Given the description of an element on the screen output the (x, y) to click on. 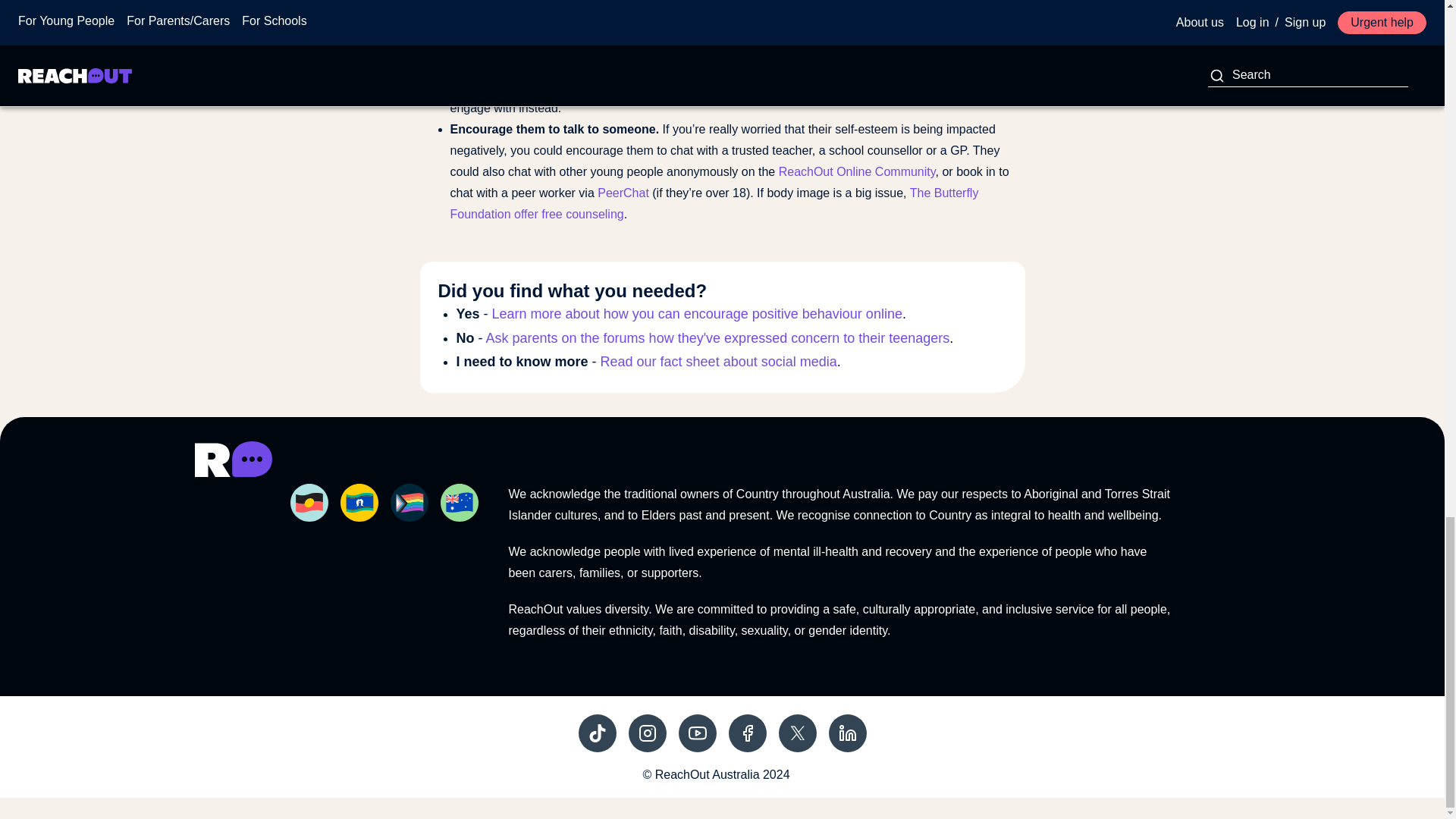
The Butterfly Foundation offer free counseling (713, 203)
PeerChat (622, 192)
ReachOut Online Community (857, 171)
Read our fact sheet about social media (718, 361)
